Given the description of an element on the screen output the (x, y) to click on. 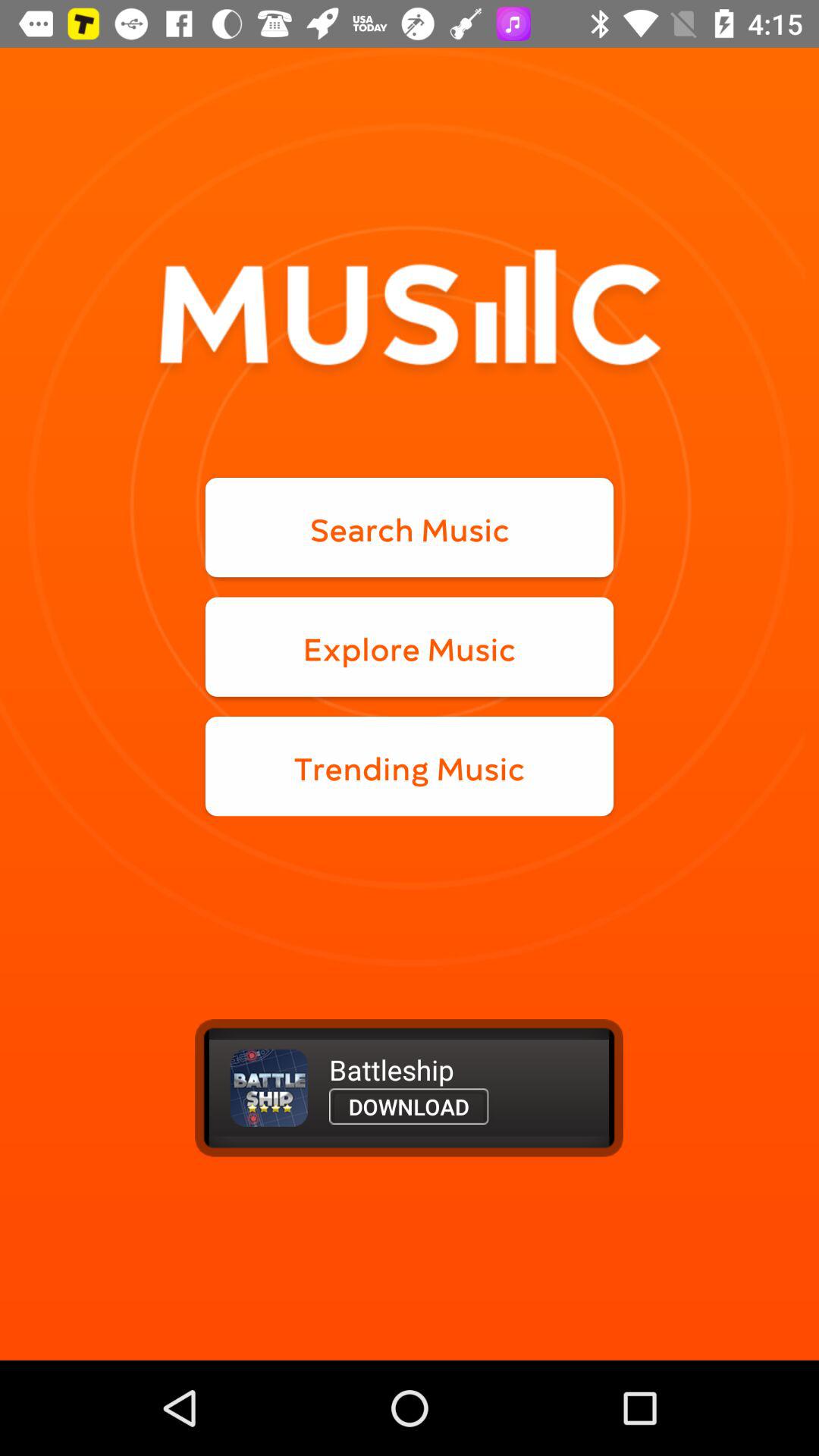
turn on the item below search music item (409, 646)
